Given the description of an element on the screen output the (x, y) to click on. 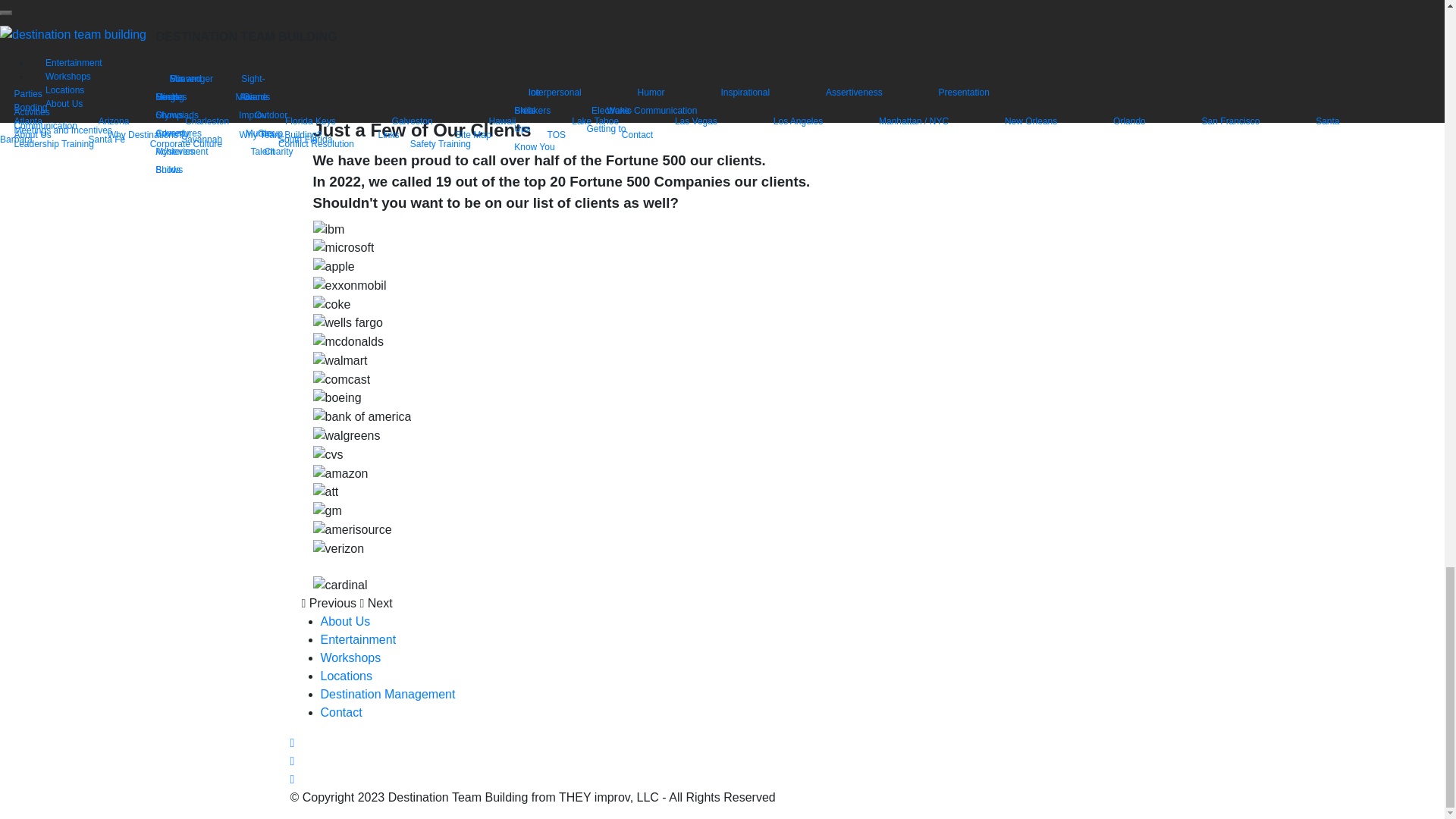
Contact (340, 712)
Entertainment (358, 639)
Destination Management (387, 694)
dancing (328, 3)
About Us (344, 621)
Previous (330, 603)
Locations (346, 675)
Workshops (350, 657)
Next (375, 603)
